Given the description of an element on the screen output the (x, y) to click on. 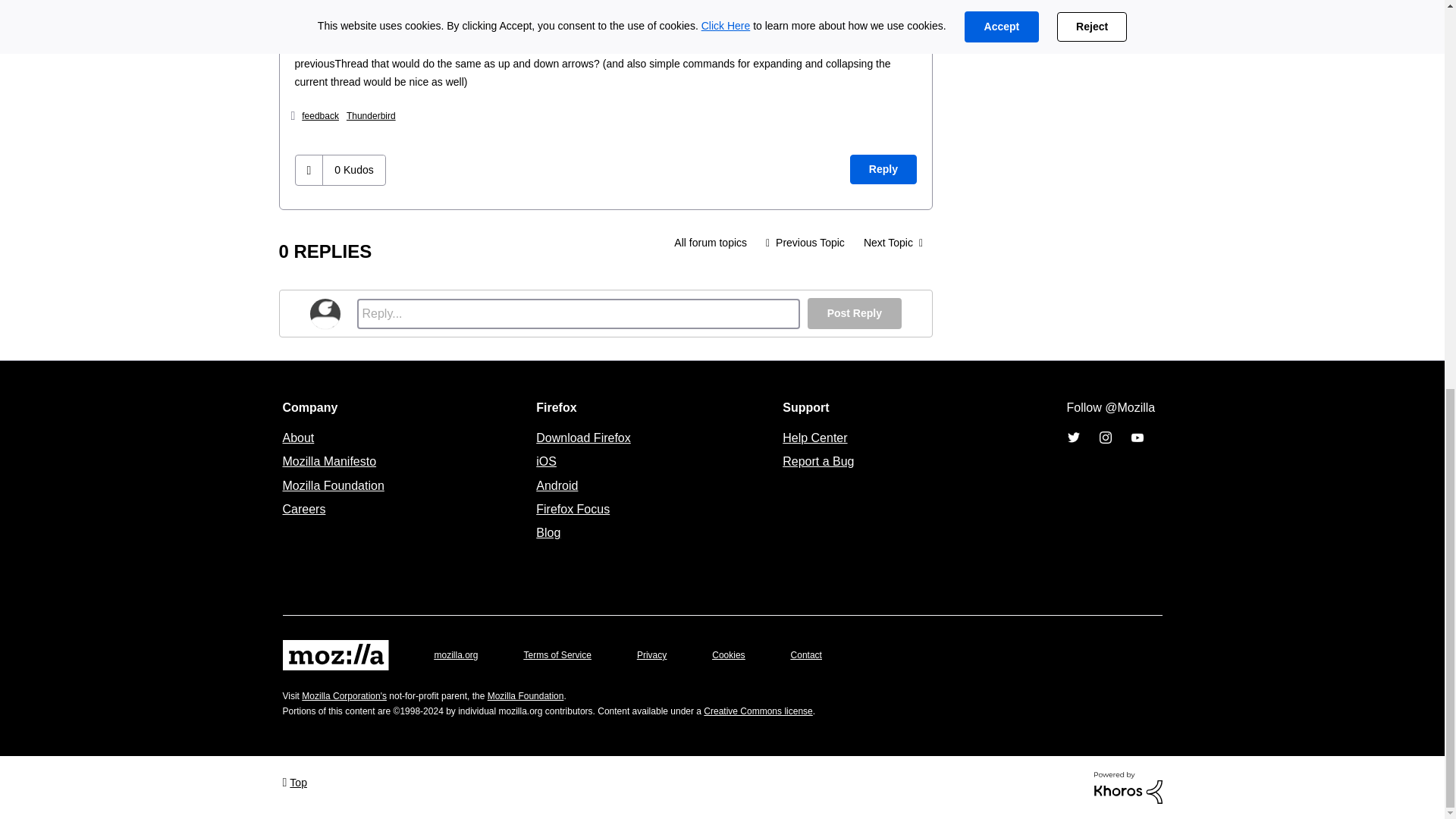
The total number of kudos this post has received. (353, 169)
All forum topics (710, 242)
performance macos, ios (804, 242)
Discussions (710, 242)
Top (293, 781)
Click here to give kudos to this post. (309, 170)
Reply (883, 169)
Thunderbird (371, 115)
feedback (320, 115)
Top (293, 781)
